Given the description of an element on the screen output the (x, y) to click on. 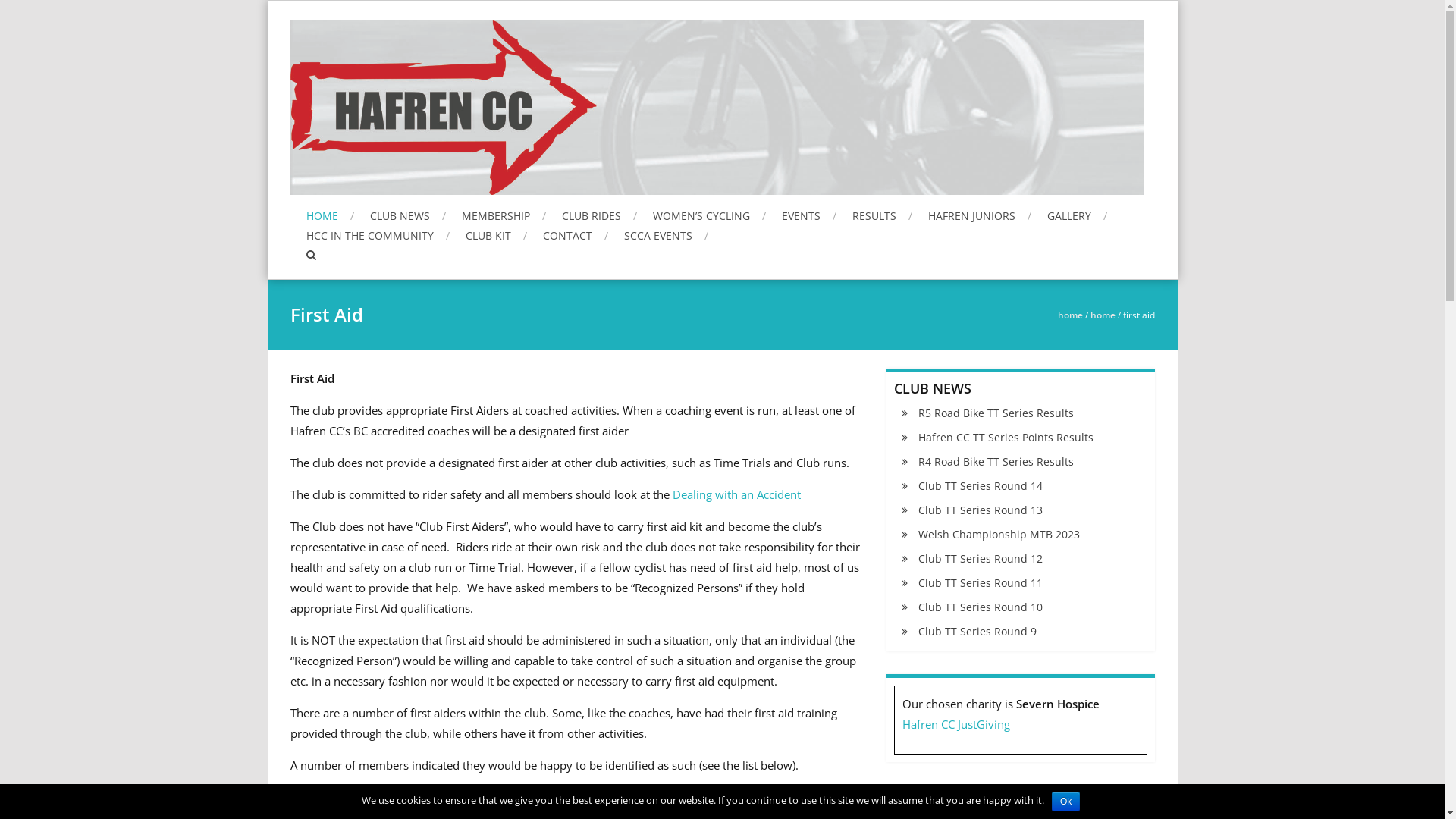
Dealing with an Accident Element type: text (735, 494)
Club TT Series Round 11 Element type: text (971, 582)
MEMBERSHIP Element type: text (503, 215)
R4 Road Bike TT Series Results Element type: text (987, 461)
HAFREN JUNIORS Element type: text (979, 215)
Club TT Series Round 14 Element type: text (971, 485)
Club TT Series Round 12 Element type: text (971, 558)
Ok Element type: text (1065, 801)
CONTACT Element type: text (575, 234)
Club TT Series Round 9 Element type: text (968, 631)
GALLERY Element type: text (1076, 215)
RESULTS Element type: text (882, 215)
SCCA EVENTS Element type: text (665, 234)
Hafren CC TT Series Points Results Element type: text (997, 436)
HOME Element type: text (330, 215)
CLUB RIDES Element type: text (598, 215)
R5 Road Bike TT Series Results Element type: text (987, 412)
CLUB NEWS Element type: text (407, 215)
Hafren CC JustGiving Element type: text (956, 723)
Welsh Championship MTB 2023 Element type: text (990, 534)
Club TT Series Round 13 Element type: text (971, 509)
Club TT Series Round 10 Element type: text (971, 606)
home Element type: text (1069, 314)
home Element type: text (1102, 314)
Skip to content Element type: text (266, 0)
HCC IN THE COMMUNITY Element type: text (377, 234)
EVENTS Element type: text (808, 215)
CLUB KIT Element type: text (496, 234)
